Given the description of an element on the screen output the (x, y) to click on. 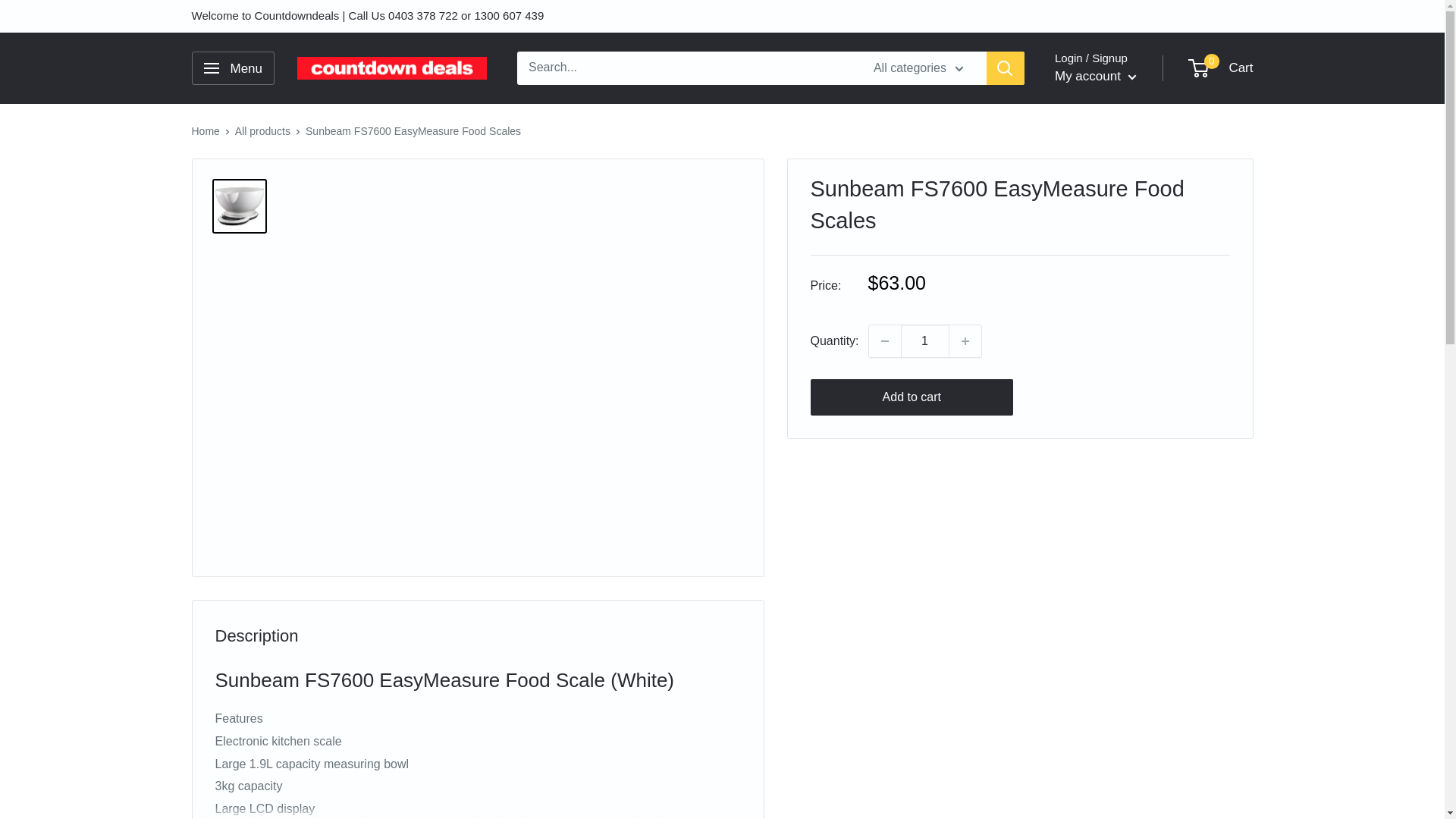
Increase quantity by 1 (965, 341)
Decrease quantity by 1 (885, 341)
1 (925, 341)
